Given the description of an element on the screen output the (x, y) to click on. 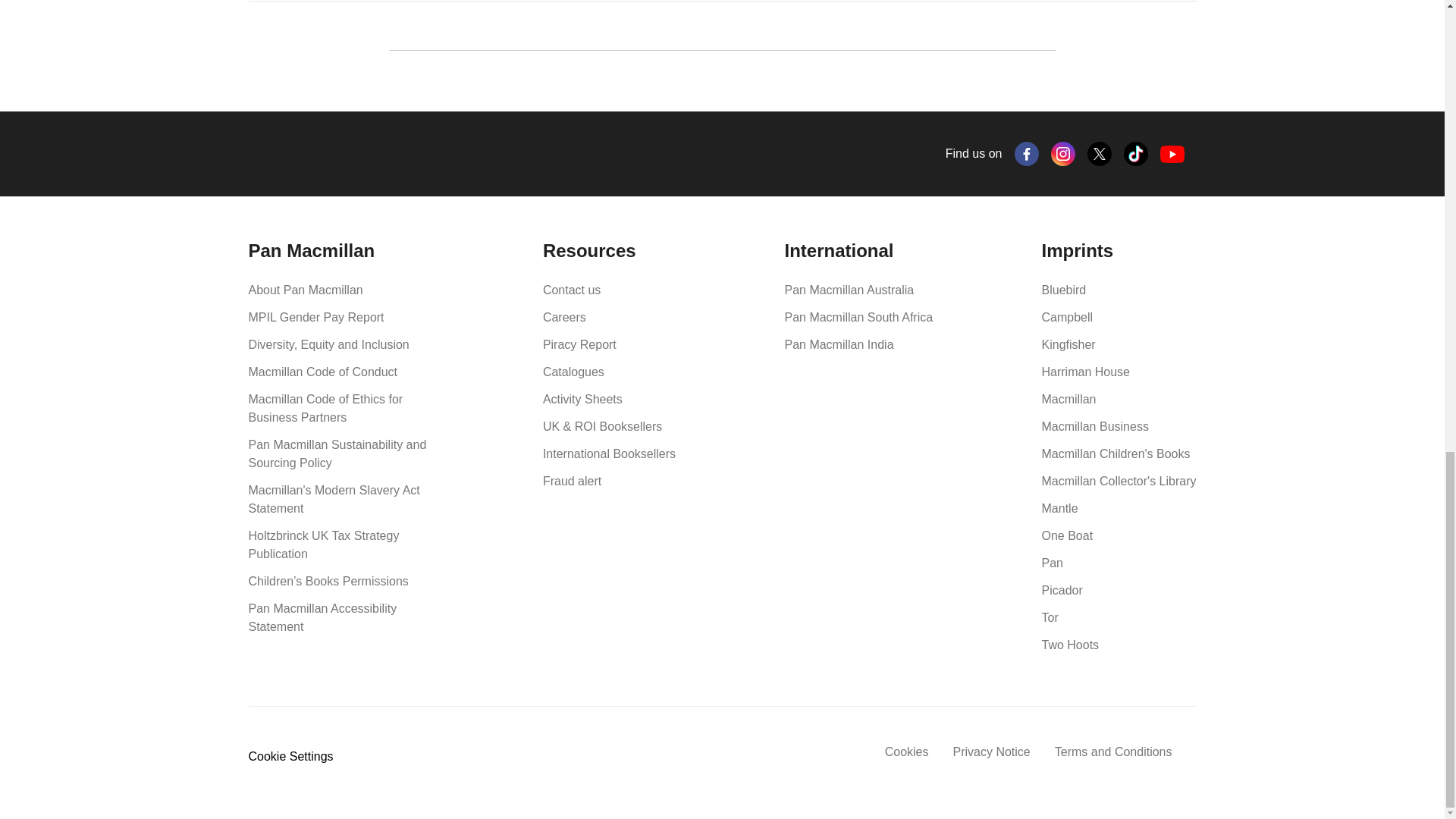
YouTube (1172, 153)
Instagram (1063, 153)
TikTok (1136, 153)
Facebook (1026, 153)
